Given the description of an element on the screen output the (x, y) to click on. 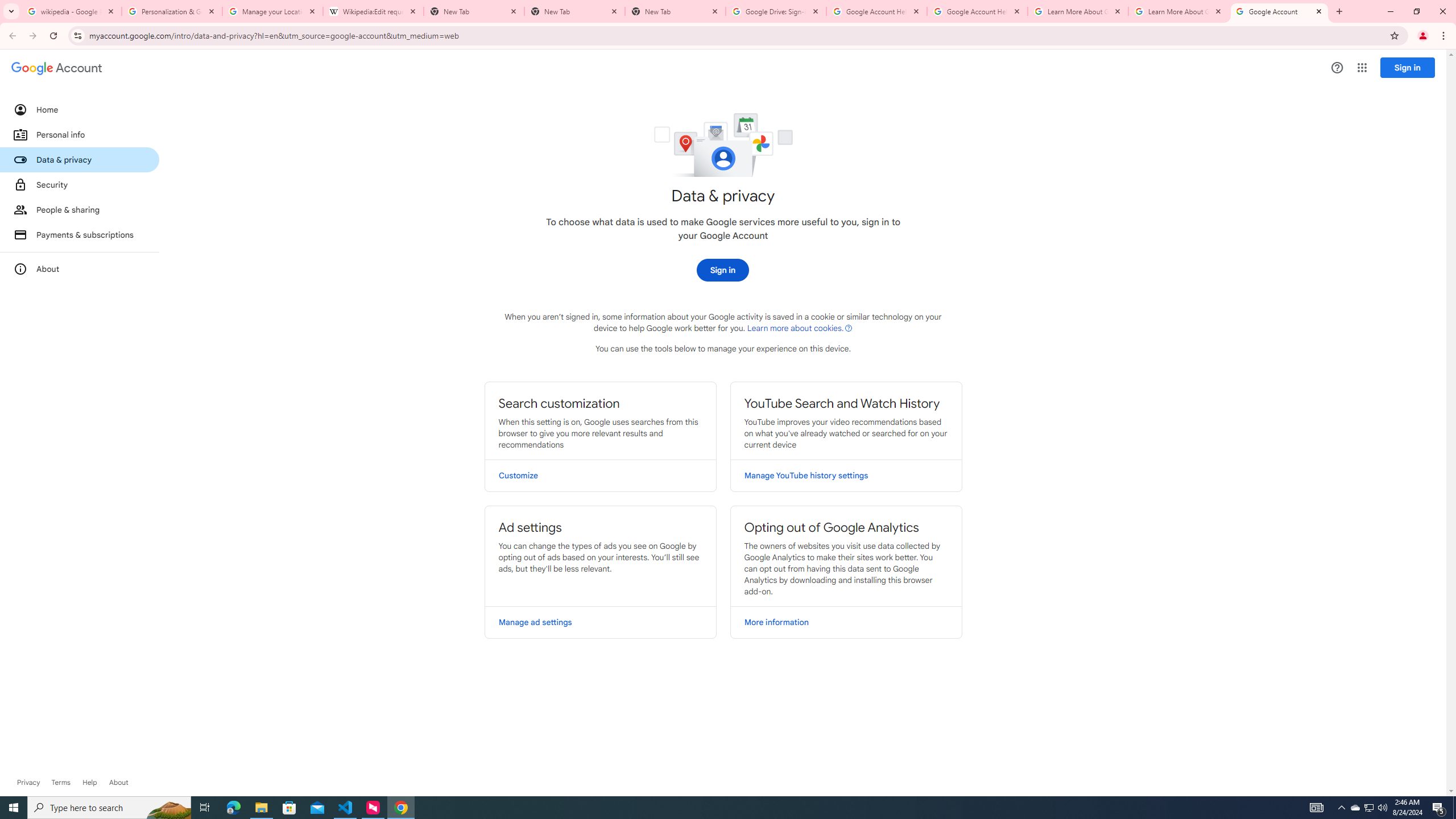
Personal info (79, 134)
Personalization & Google Search results - Google Search Help (171, 11)
Google Account (1279, 11)
Google Account Help (976, 11)
Manage your Location History - Google Search Help (271, 11)
